Given the description of an element on the screen output the (x, y) to click on. 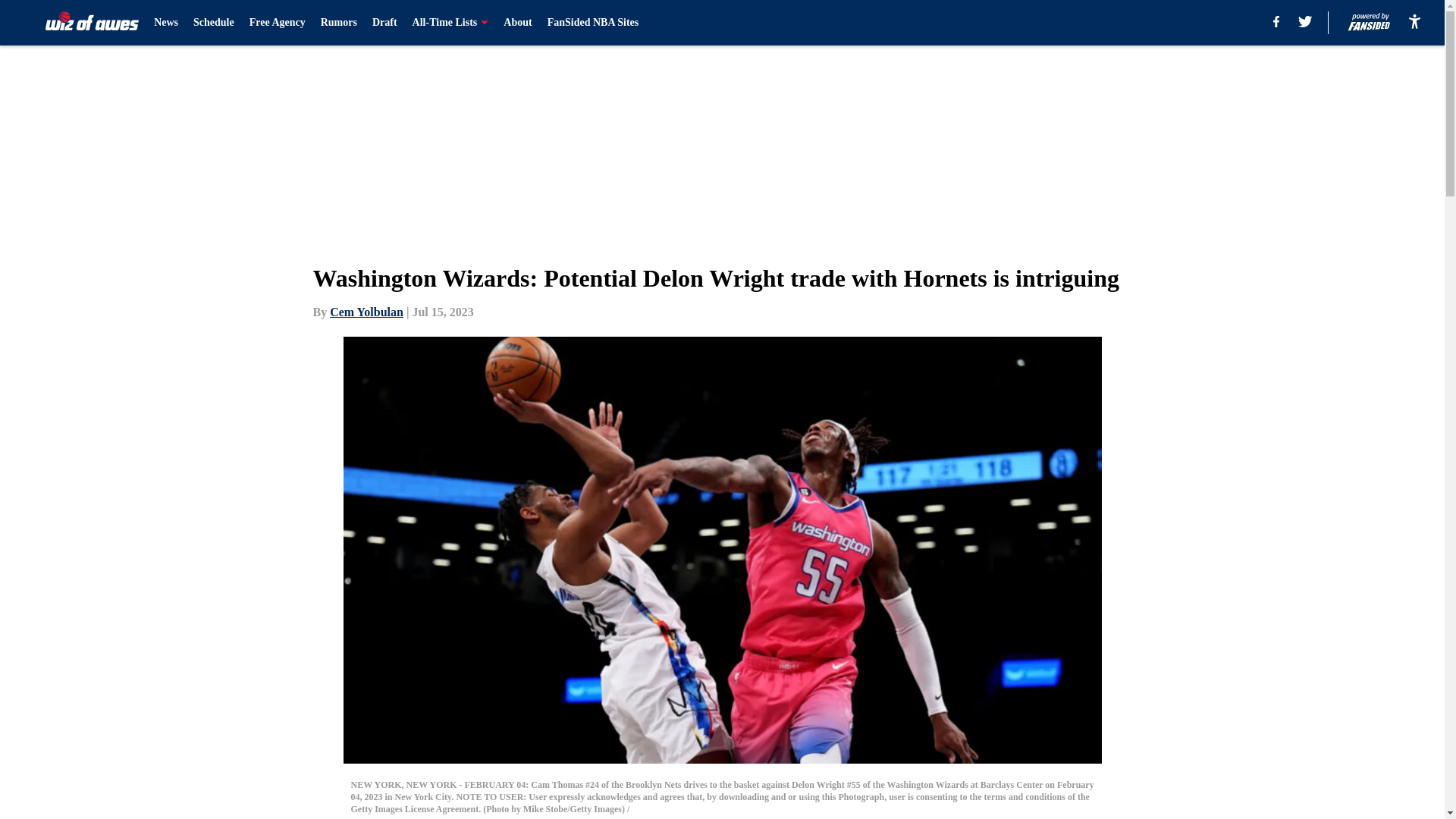
Cem Yolbulan (366, 311)
Free Agency (276, 22)
News (165, 22)
About (517, 22)
Rumors (338, 22)
Draft (384, 22)
All-Time Lists (450, 22)
FanSided NBA Sites (593, 22)
Schedule (213, 22)
